Given the description of an element on the screen output the (x, y) to click on. 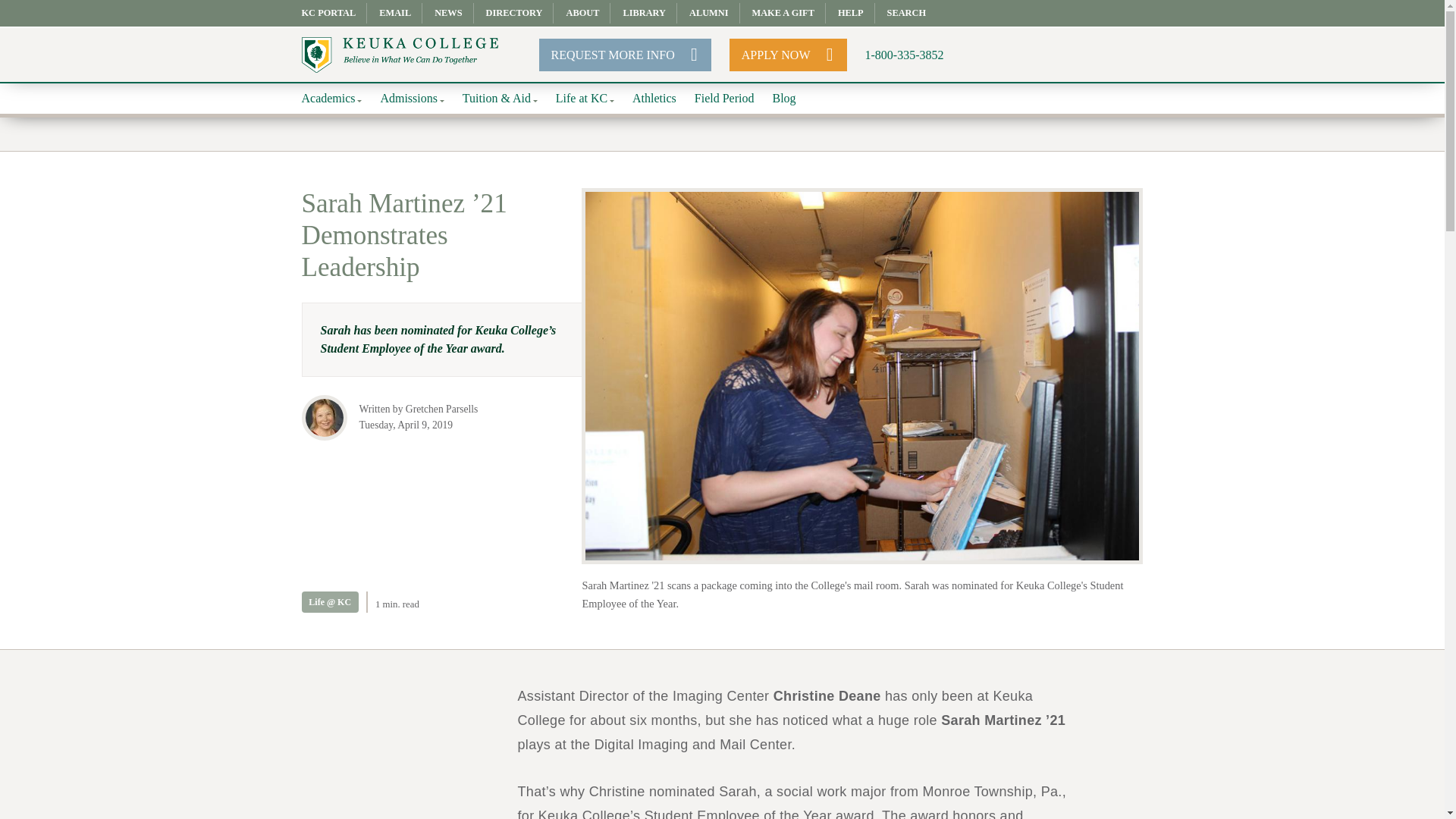
Admissions (412, 98)
APPLY NOW (788, 54)
Life at KC (585, 98)
REQUEST MORE INFO (624, 54)
1-800-335-3852 (903, 54)
Academics (331, 98)
